Given the description of an element on the screen output the (x, y) to click on. 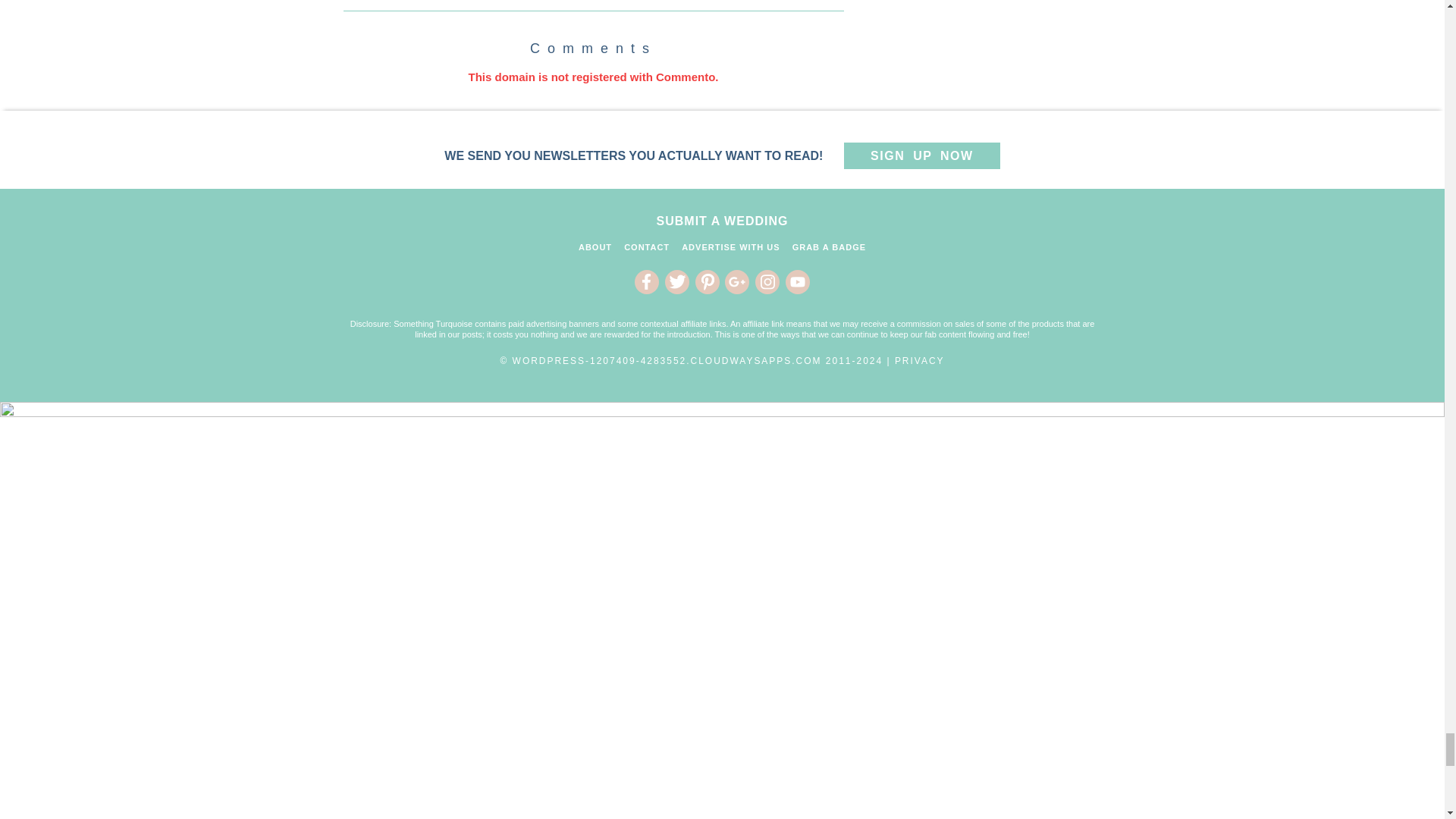
ABOUT (594, 246)
CONTACT (646, 246)
SUBMIT A WEDDING (722, 220)
